Given the description of an element on the screen output the (x, y) to click on. 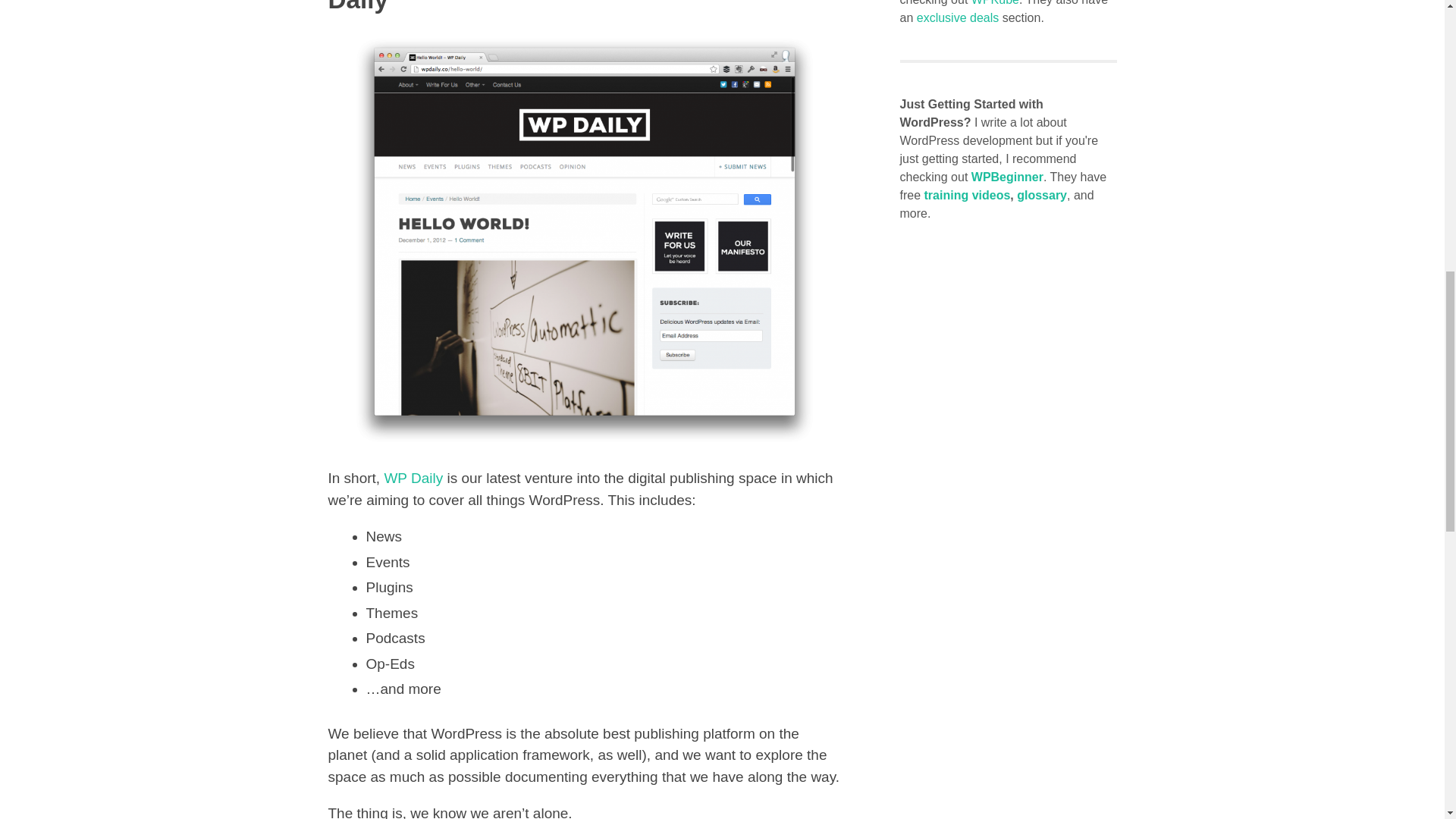
WP Daily (413, 478)
WP Daily (413, 478)
